Given the description of an element on the screen output the (x, y) to click on. 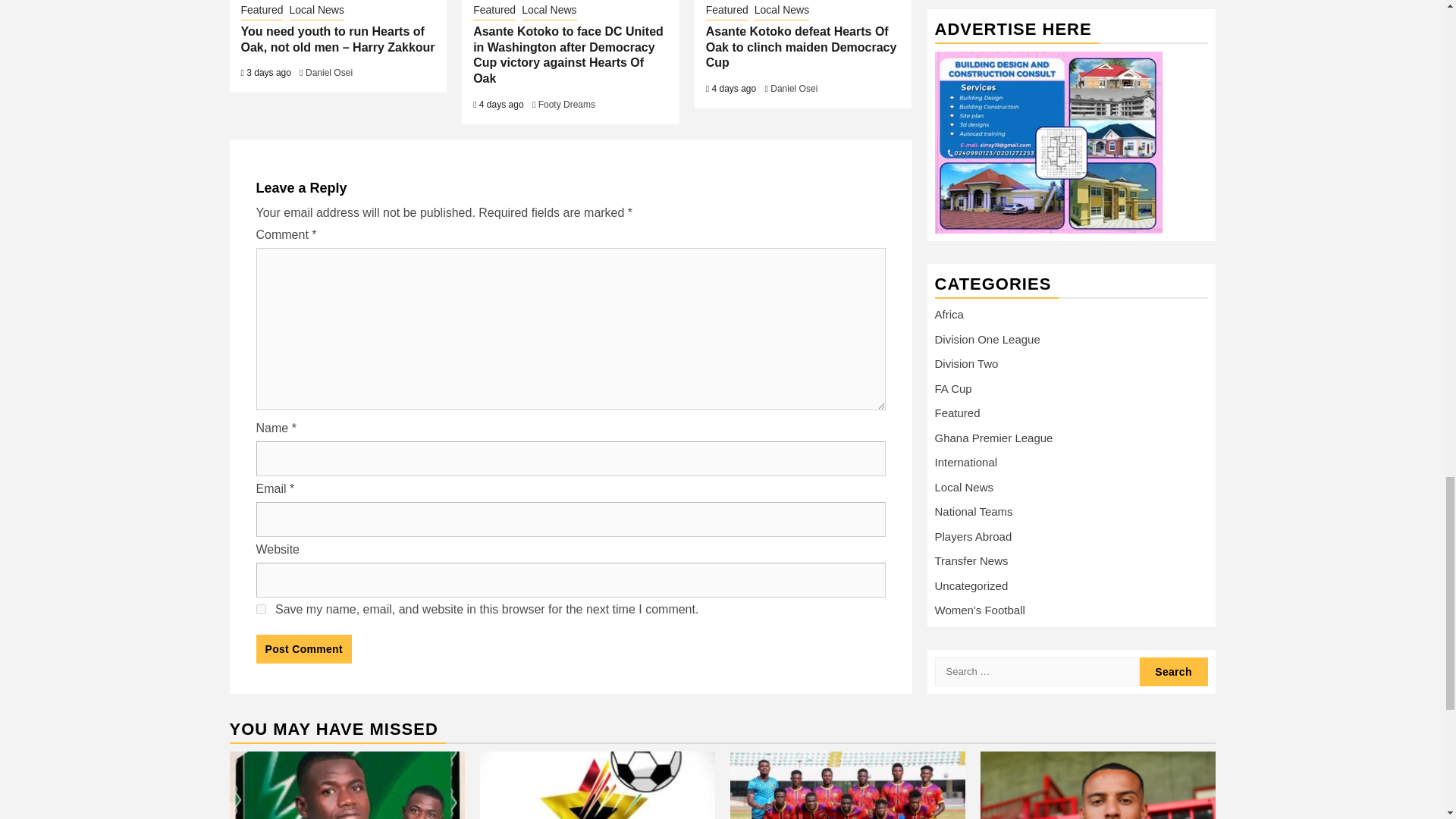
Featured (262, 11)
Post Comment (304, 648)
yes (261, 609)
